Given the description of an element on the screen output the (x, y) to click on. 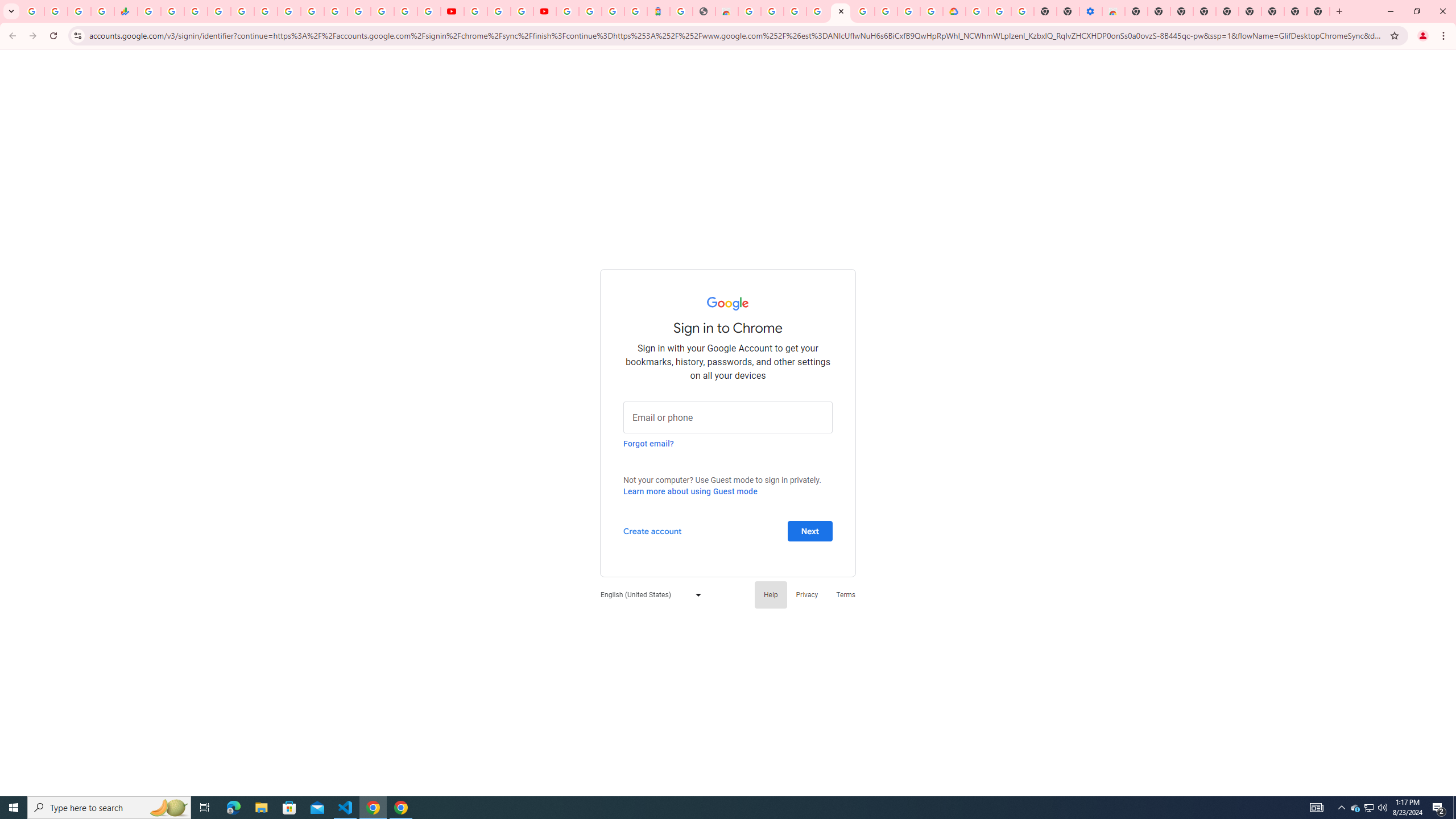
Sign in - Google Accounts (381, 11)
Create your Google Account (521, 11)
Google Account Help (999, 11)
YouTube (312, 11)
Settings - Accessibility (1091, 11)
Sign in - Google Accounts (976, 11)
